Given the description of an element on the screen output the (x, y) to click on. 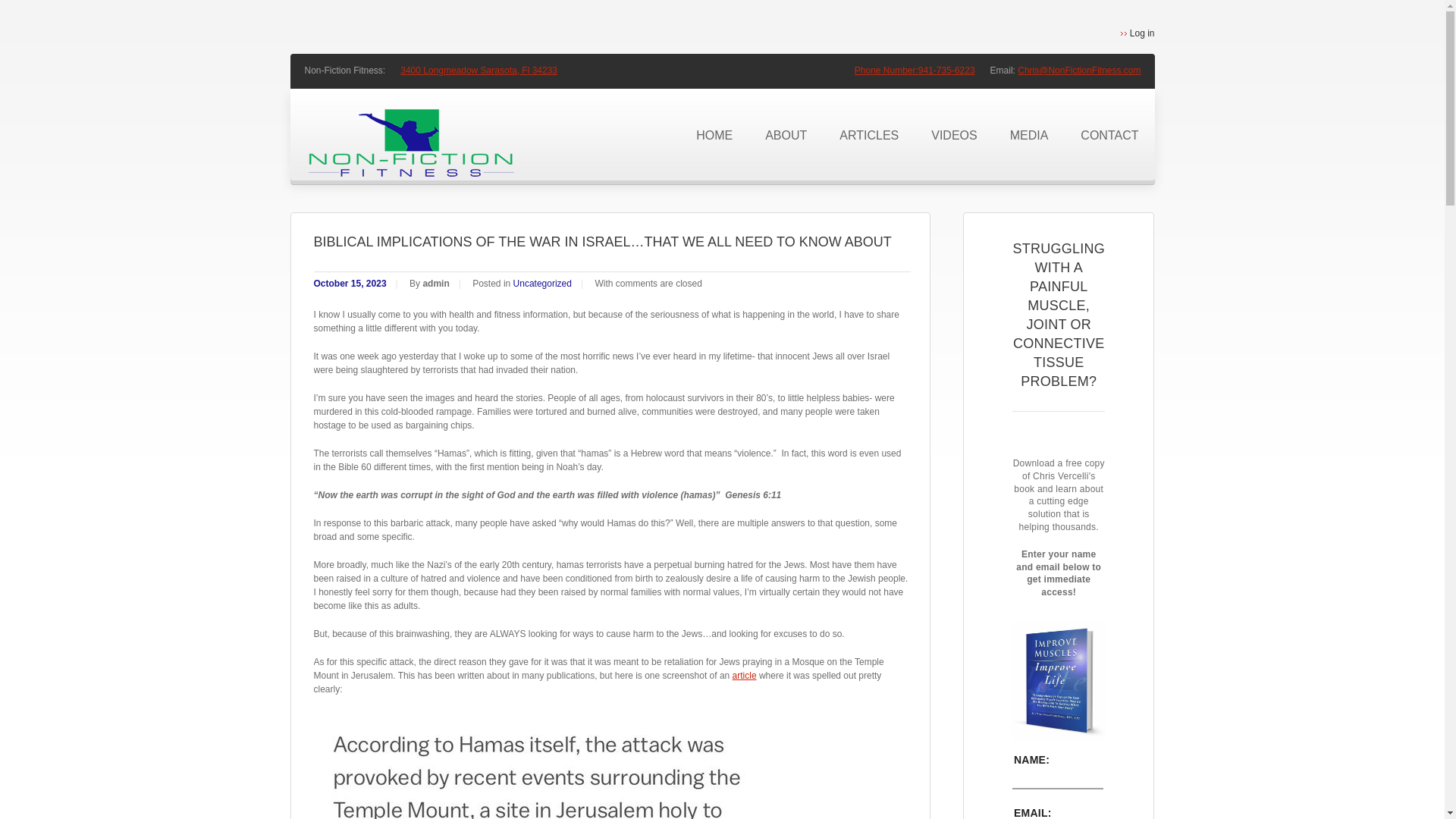
941-735-6223 (946, 70)
Posts by admin (435, 283)
Phone Number: (886, 70)
Uncategorized (542, 283)
article (744, 675)
admin (435, 283)
CONTACT (1109, 134)
Log in (1137, 33)
ARTICLES (868, 134)
3400 Longmeadow Sarasota, Fl 34233 (478, 70)
